Given the description of an element on the screen output the (x, y) to click on. 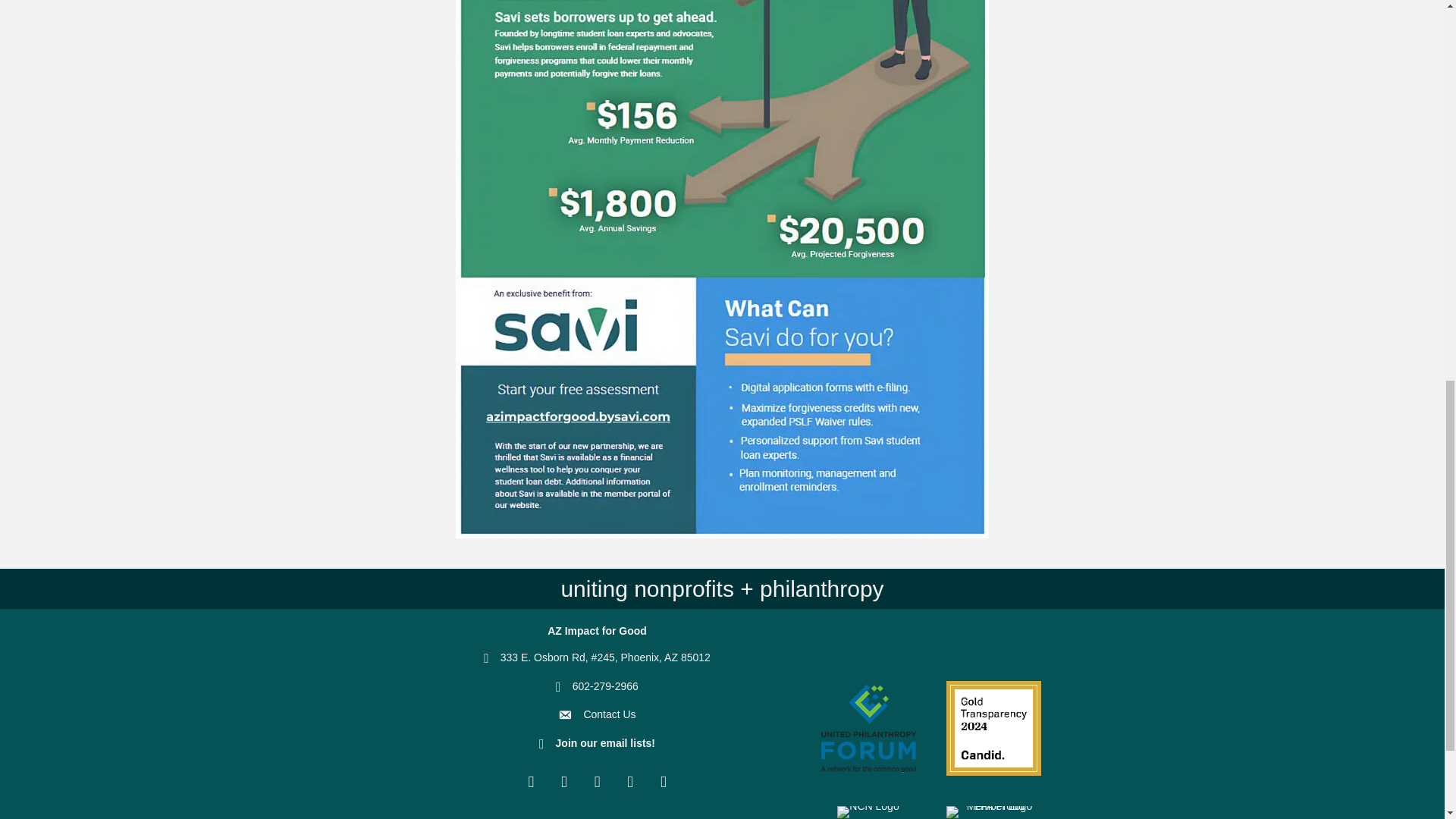
NCN-1-w300 (867, 811)
LFAProudMemberDigitalGraphicLight-w300 (993, 811)
candid-seal-gold-2024-h150 (993, 727)
